Given the description of an element on the screen output the (x, y) to click on. 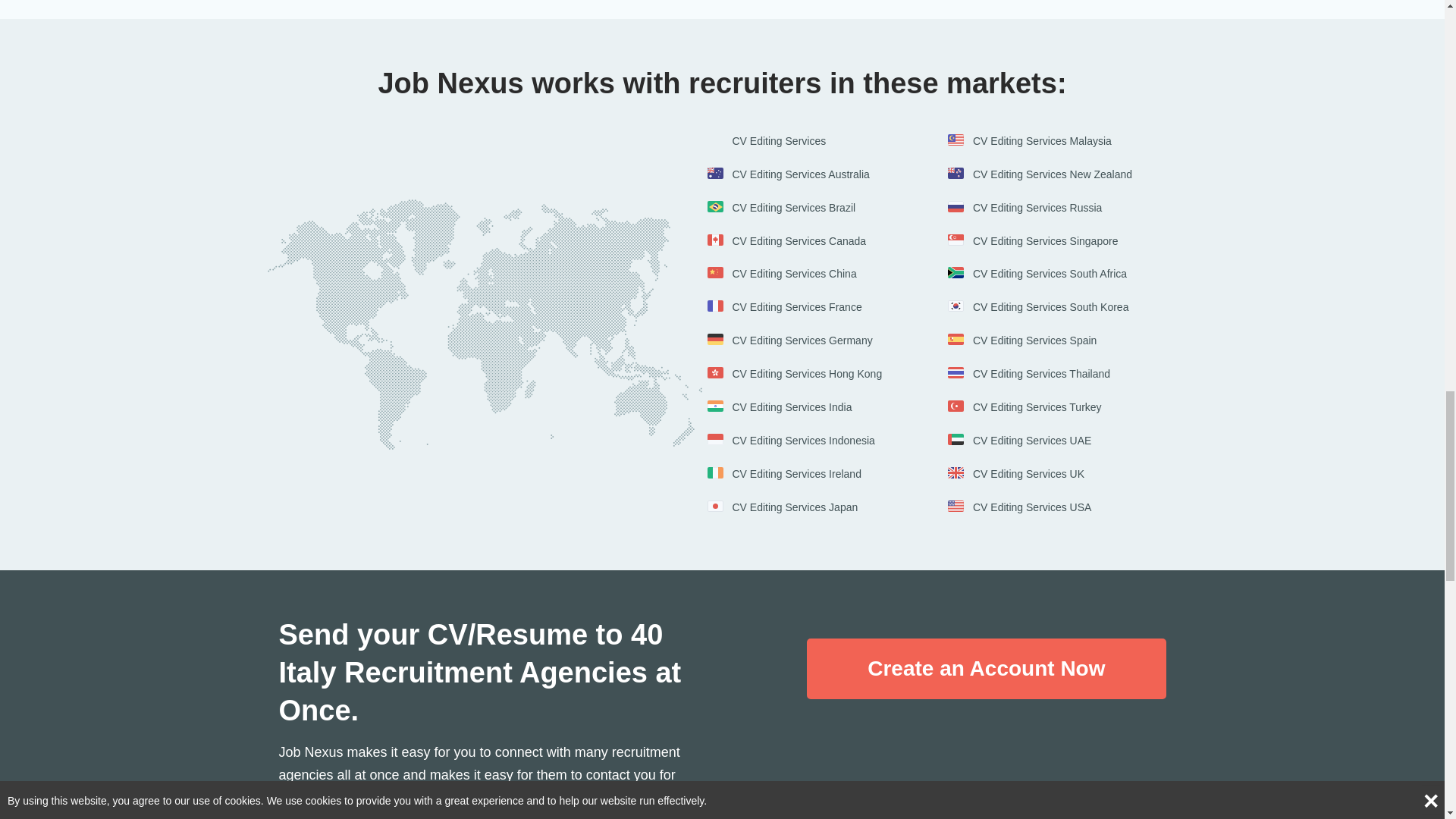
CV Editing Services New Zealand (1045, 174)
CV Editing Services China (804, 274)
CV Editing Services France (804, 307)
CV Editing Services South Africa (1045, 274)
CV Editing Services Spain (1045, 340)
CV Editing Services Brazil (804, 208)
CV Editing Services Thailand (1045, 374)
CV Editing Services Indonesia (804, 441)
CV Editing Services India (804, 408)
CV Editing Services Malaysia (1045, 141)
CV Editing Services Ireland (804, 474)
CV Editing Services South Korea (1045, 307)
CV Editing Services Australia (804, 174)
CV Editing Services Japan (804, 507)
CV Editing Services Hong Kong (804, 374)
